Given the description of an element on the screen output the (x, y) to click on. 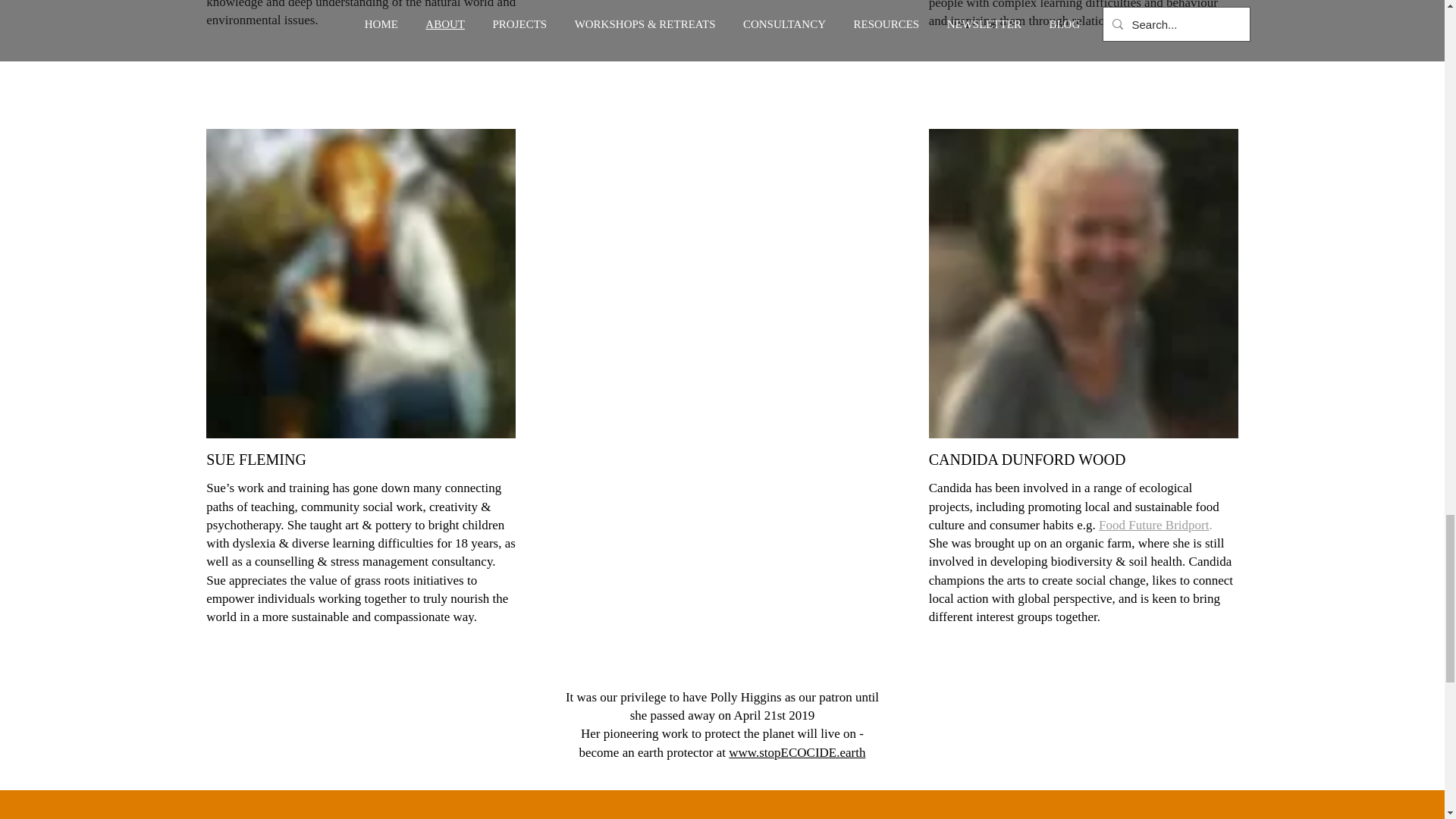
www.stopECOCIDE.earth (796, 752)
Food Future Bridport. (1155, 524)
